Given the description of an element on the screen output the (x, y) to click on. 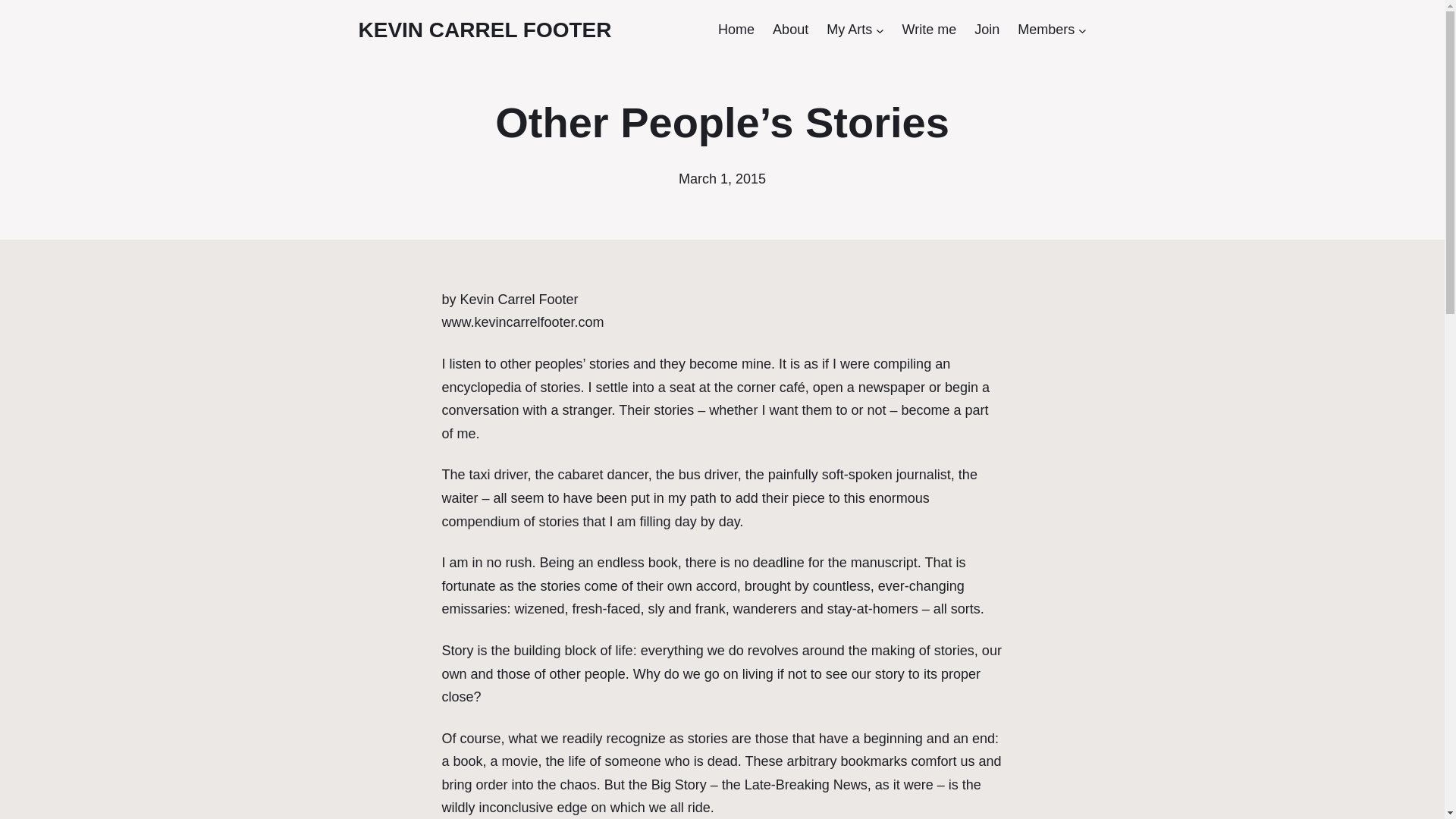
About (790, 29)
Write me (928, 29)
My Arts (849, 29)
Join (986, 29)
Members (1045, 29)
KEVIN CARREL FOOTER (484, 29)
Home (735, 29)
